Given the description of an element on the screen output the (x, y) to click on. 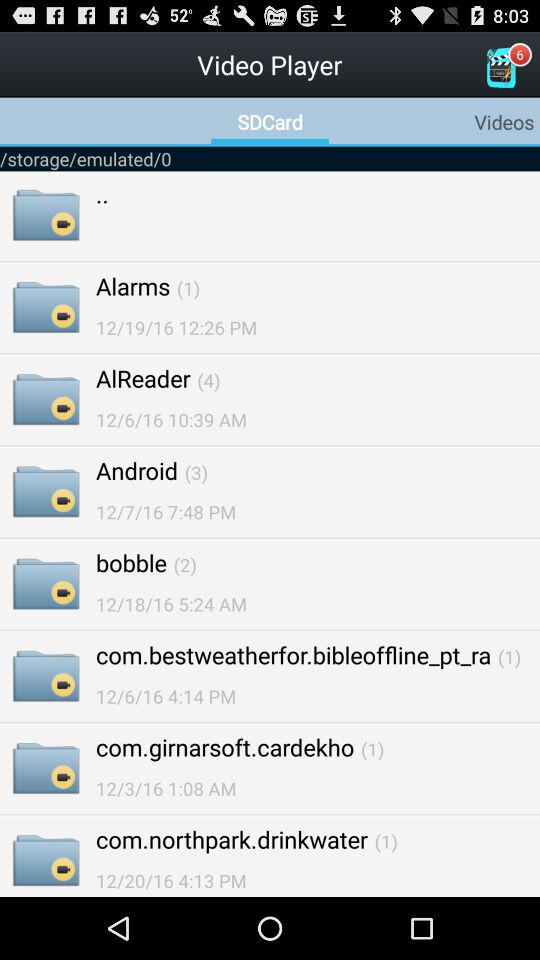
select the icon which is to the right of the video player (500, 67)
click on icon above videos (500, 67)
